Given the description of an element on the screen output the (x, y) to click on. 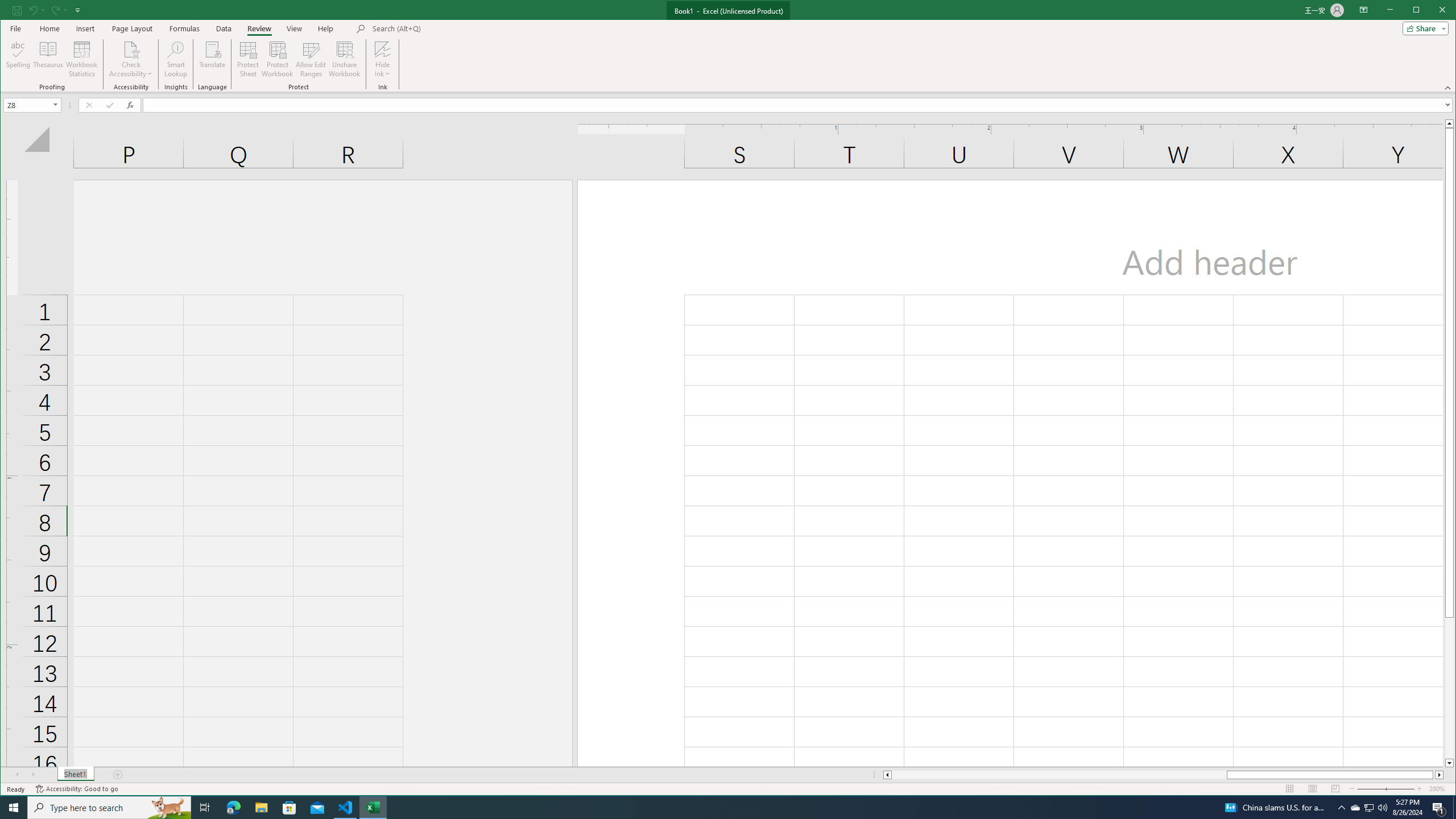
Smart Lookup (176, 59)
